Given the description of an element on the screen output the (x, y) to click on. 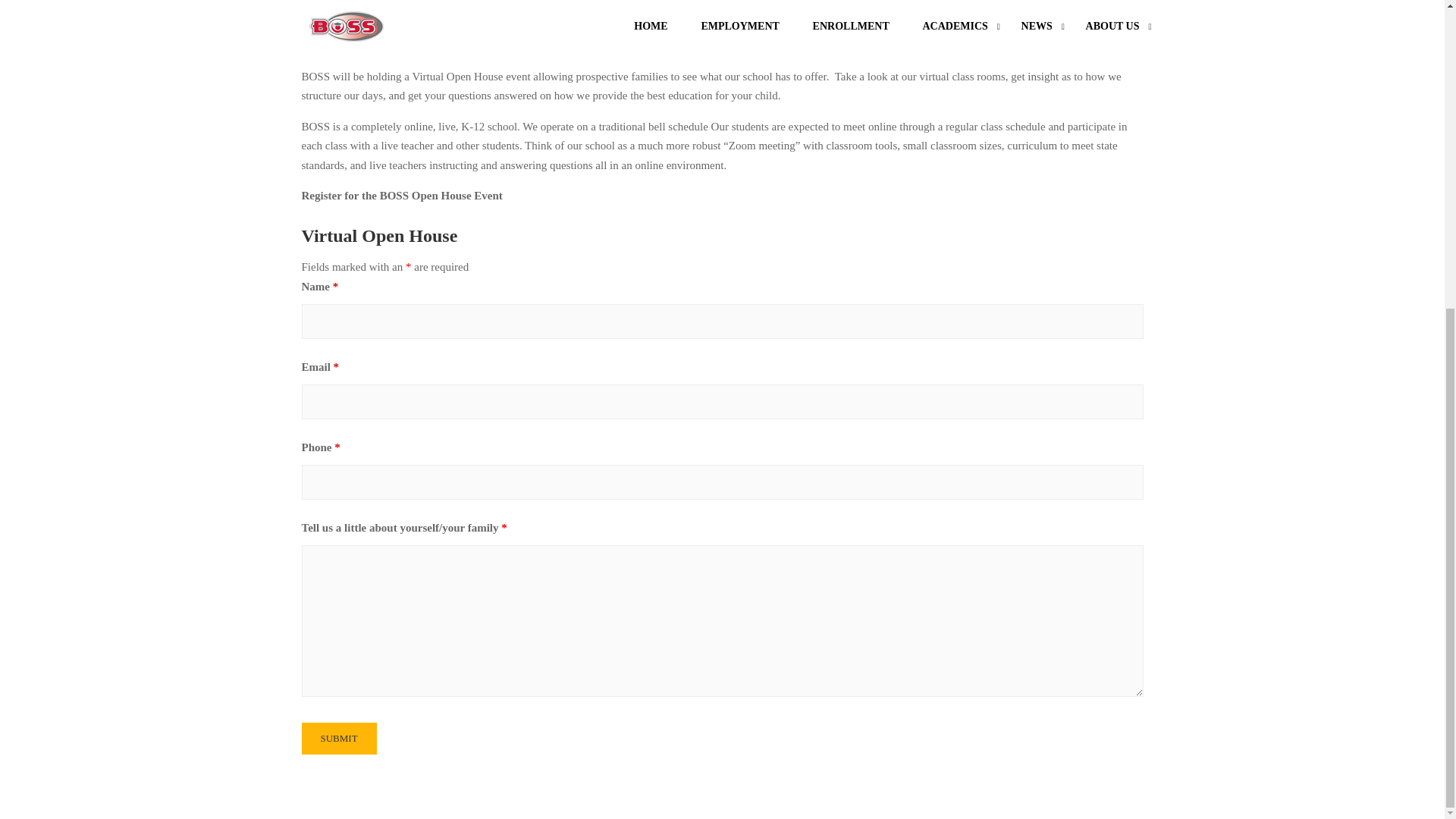
Submit (339, 738)
